Given the description of an element on the screen output the (x, y) to click on. 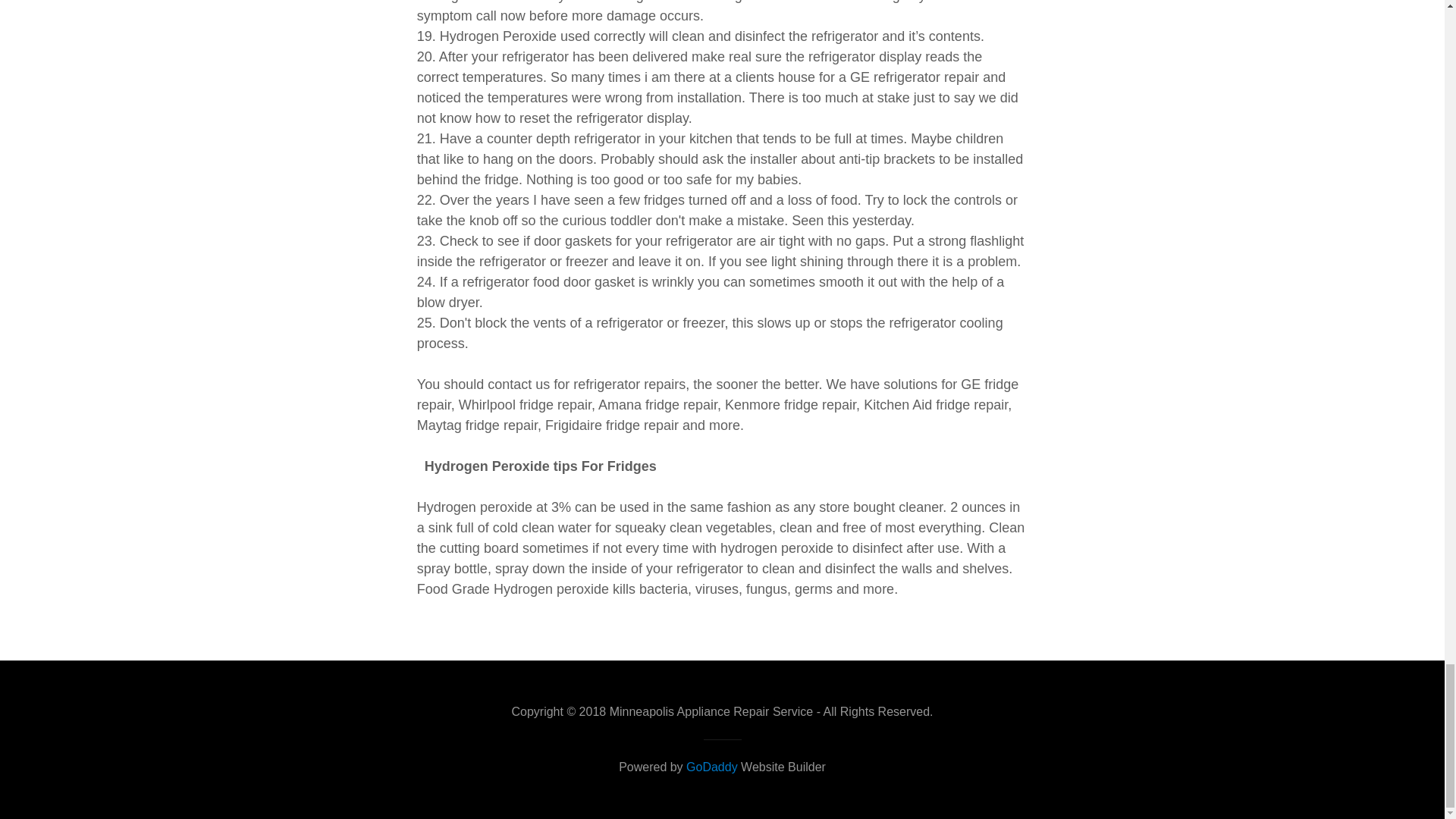
GoDaddy (711, 766)
